Given the description of an element on the screen output the (x, y) to click on. 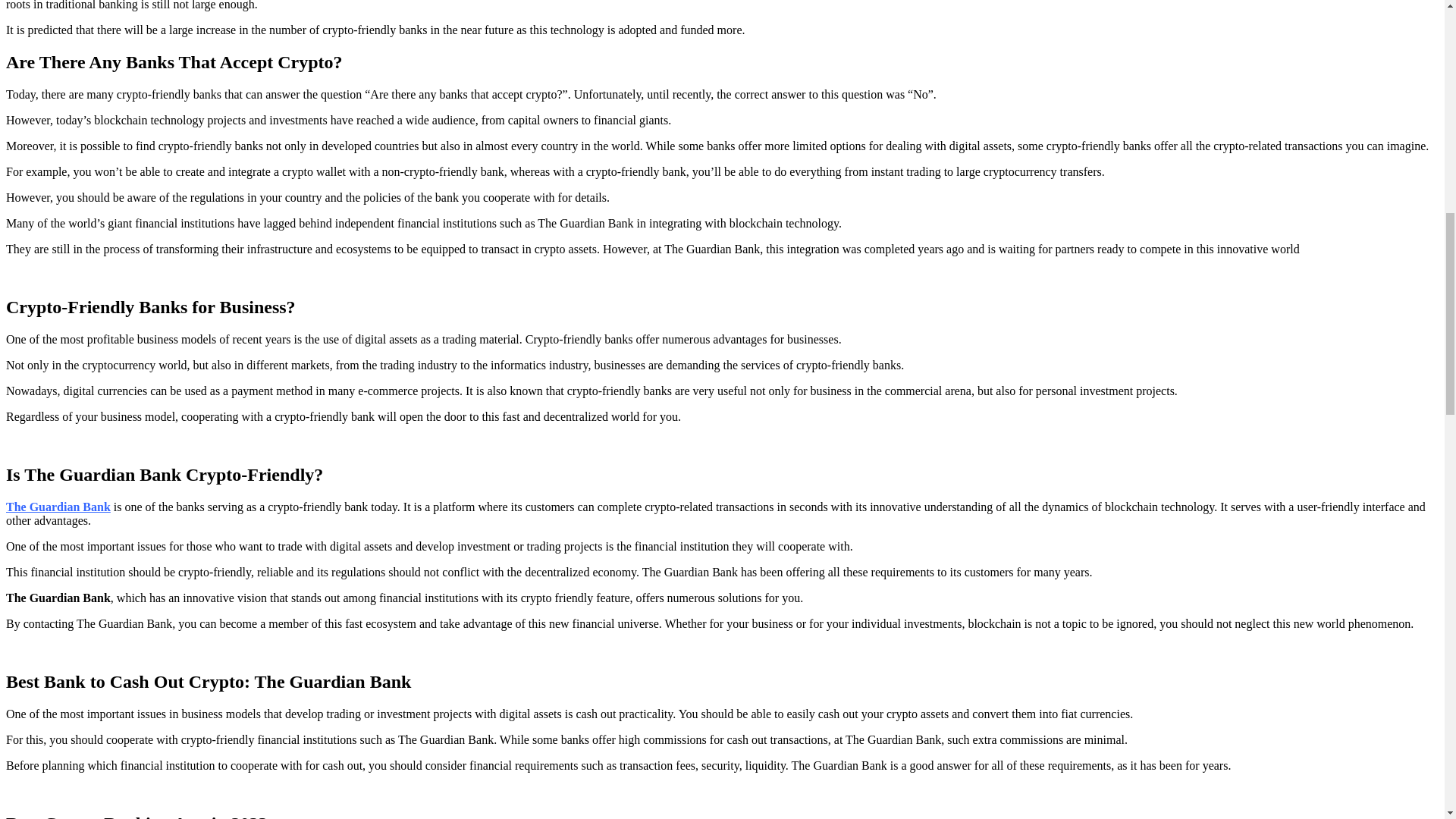
The Guardian Bank (57, 506)
